Given the description of an element on the screen output the (x, y) to click on. 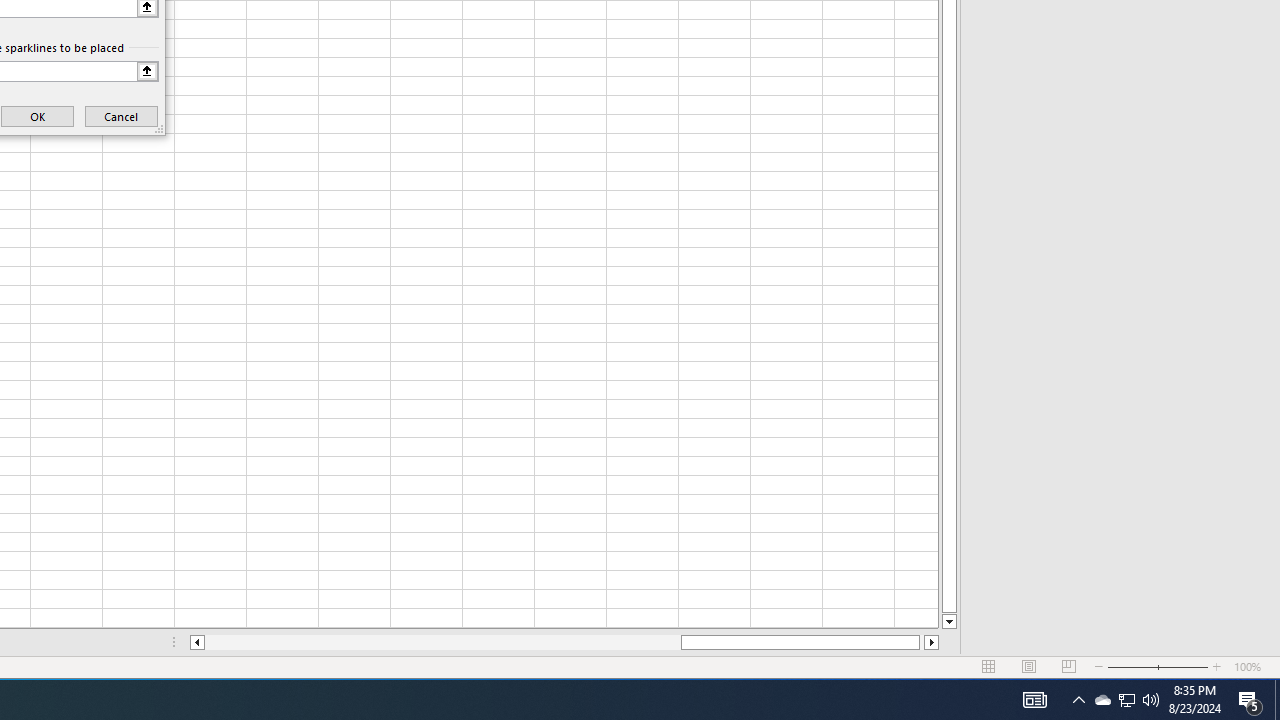
Normal (988, 667)
Page right (922, 642)
Zoom Out (1131, 667)
Column right (932, 642)
Column left (196, 642)
Page Break Preview (1069, 667)
Zoom (1158, 667)
Class: NetUIScrollBar (564, 642)
Zoom In (1217, 667)
Line down (948, 622)
Page Layout (1028, 667)
Page left (442, 642)
